Given the description of an element on the screen output the (x, y) to click on. 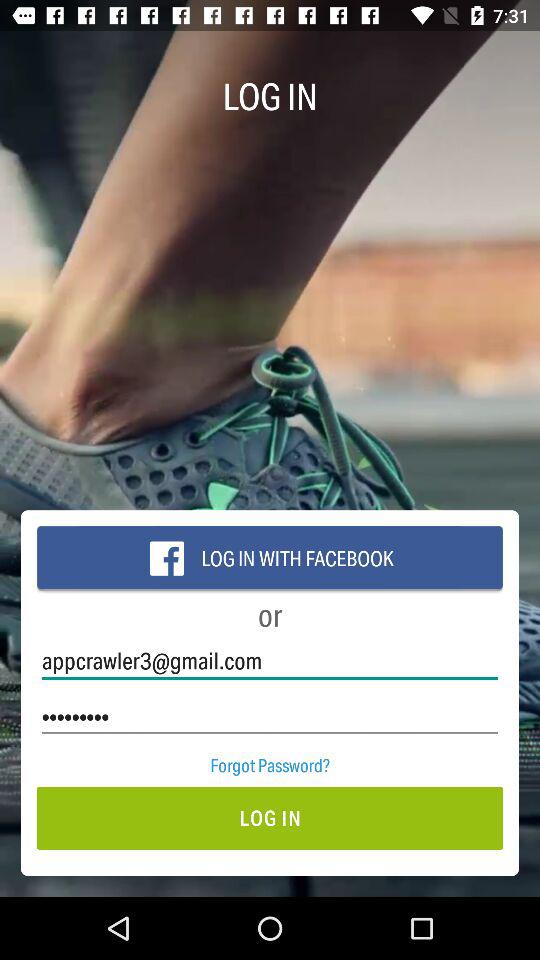
click the item above the log in item (269, 764)
